Given the description of an element on the screen output the (x, y) to click on. 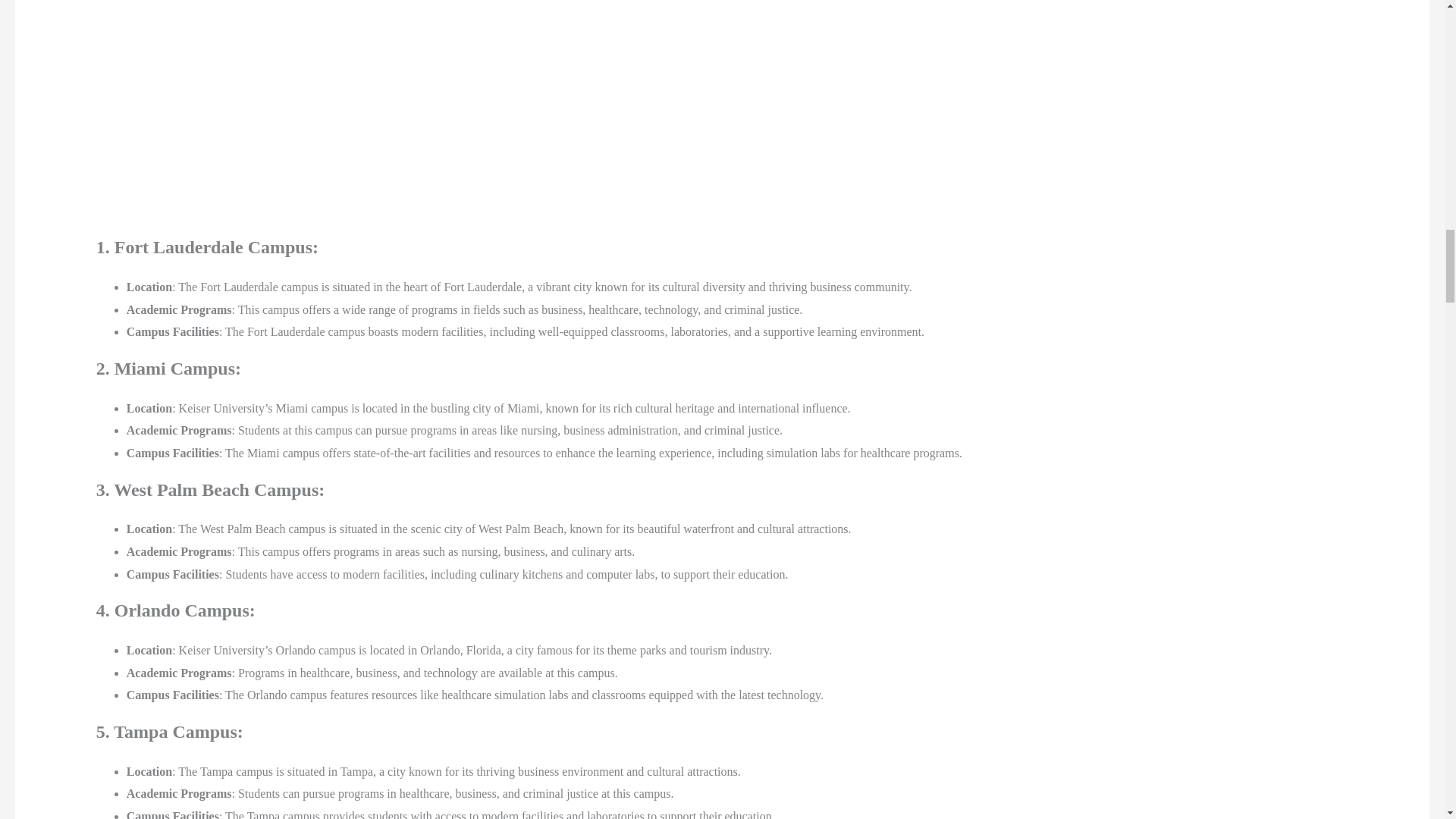
Advertisement (235, 117)
